Given the description of an element on the screen output the (x, y) to click on. 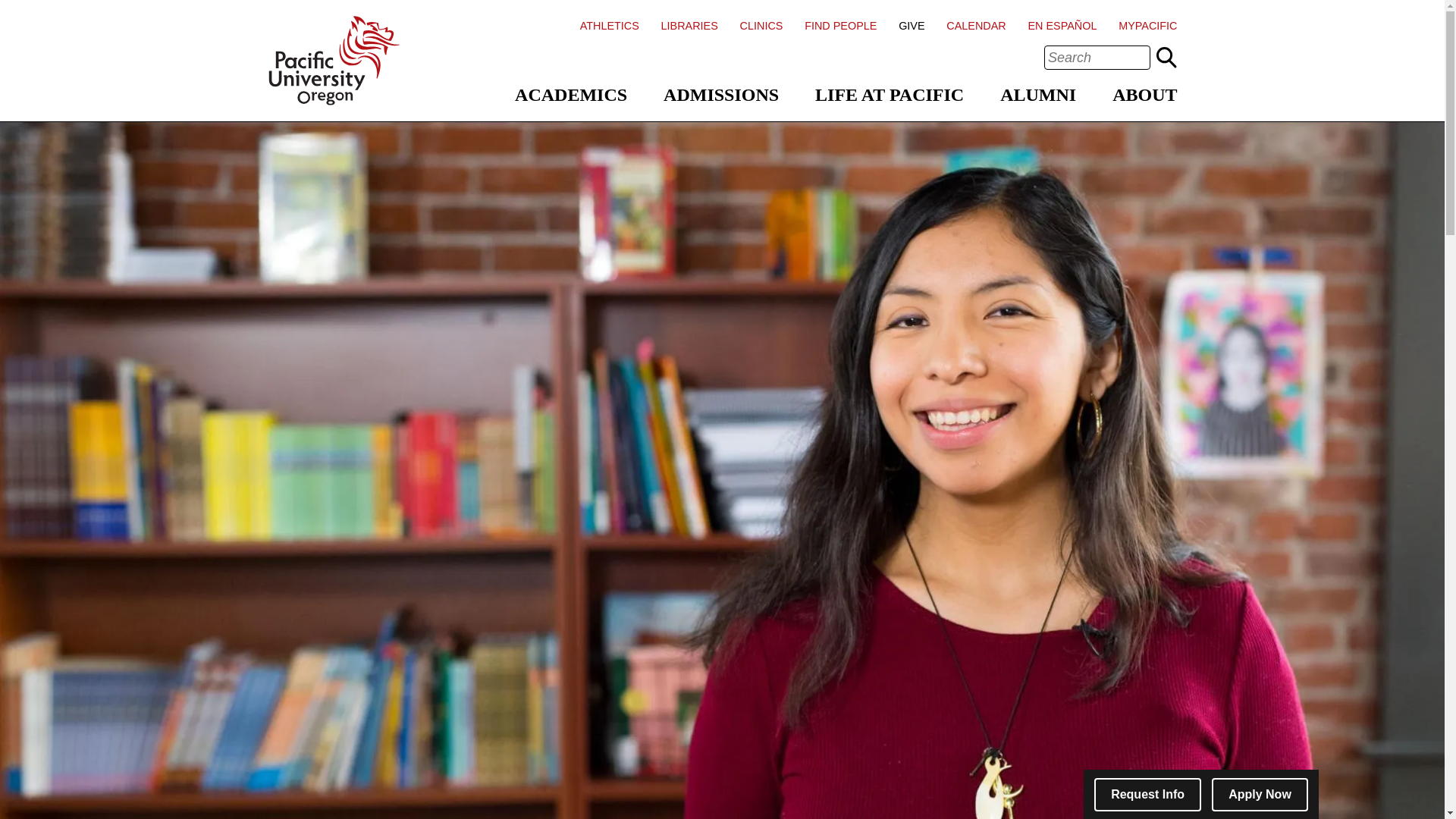
ADMISSIONS (720, 94)
FIND PEOPLE (840, 25)
Search (1166, 56)
CALENDAR (976, 25)
CLINICS (761, 25)
ABOUT (1144, 94)
ACADEMICS (571, 94)
Search (1166, 56)
LIBRARIES (689, 25)
LIFE AT PACIFIC (889, 94)
ATHLETICS (609, 25)
MYPACIFIC (1147, 25)
GIVE (911, 25)
ALUMNI (1037, 94)
Search (1166, 56)
